Given the description of an element on the screen output the (x, y) to click on. 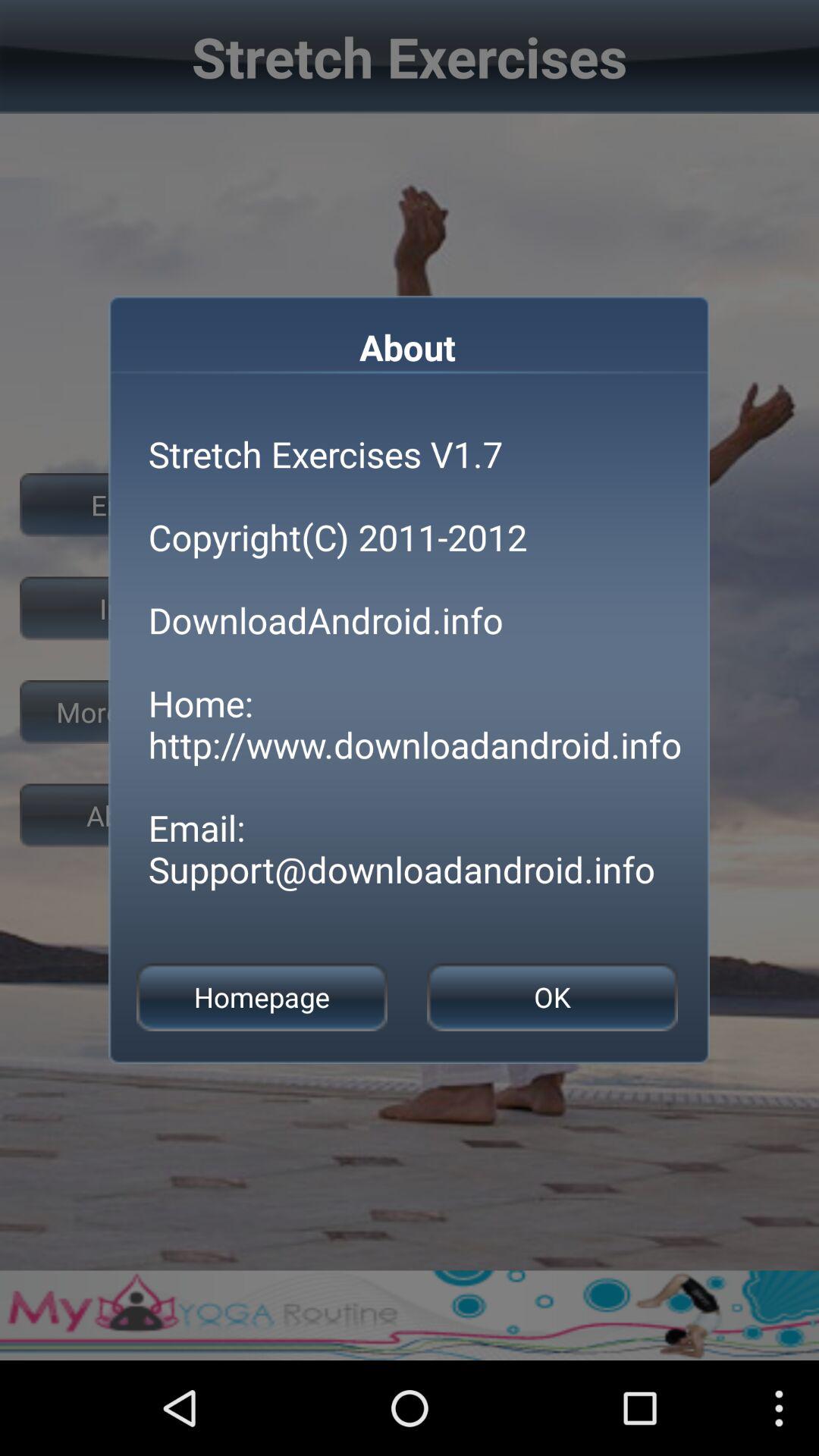
swipe to the ok icon (552, 997)
